Given the description of an element on the screen output the (x, y) to click on. 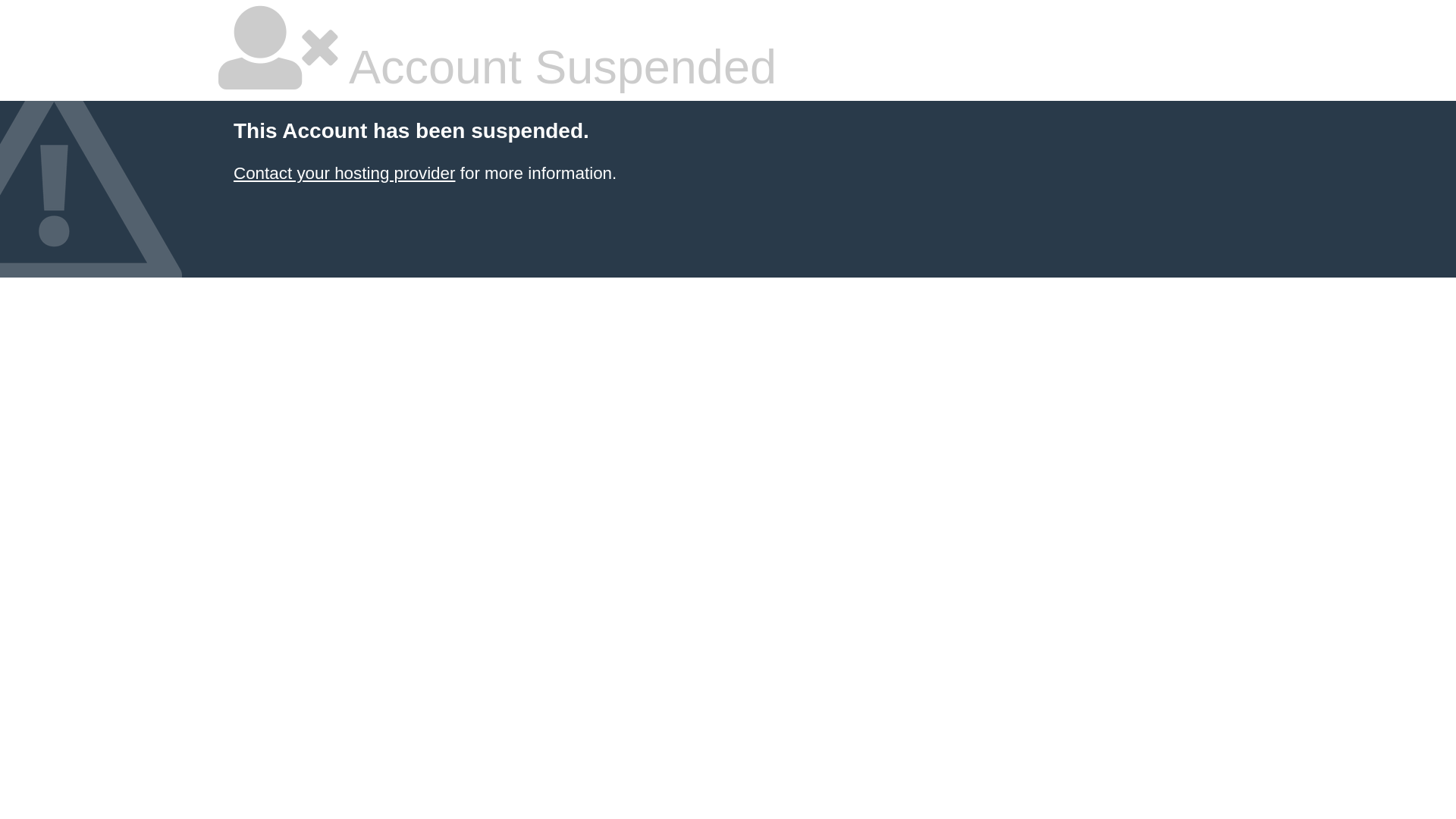
Contact your hosting provider Element type: text (344, 172)
